Given the description of an element on the screen output the (x, y) to click on. 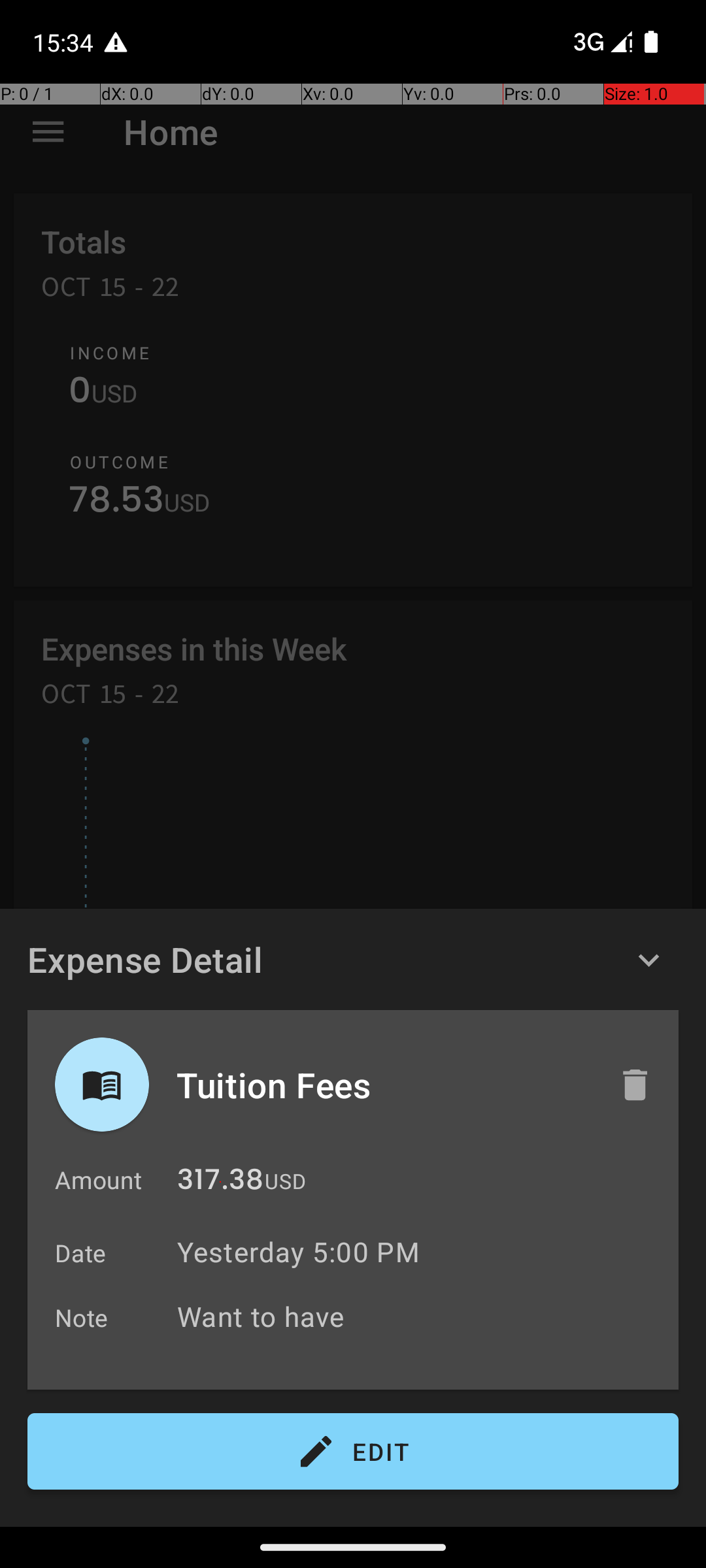
Tuition Fees Element type: android.widget.TextView (383, 1084)
317.38 Element type: android.widget.TextView (220, 1182)
Yesterday 5:00 PM Element type: android.widget.TextView (298, 1251)
Want to have Element type: android.widget.TextView (420, 1315)
